Given the description of an element on the screen output the (x, y) to click on. 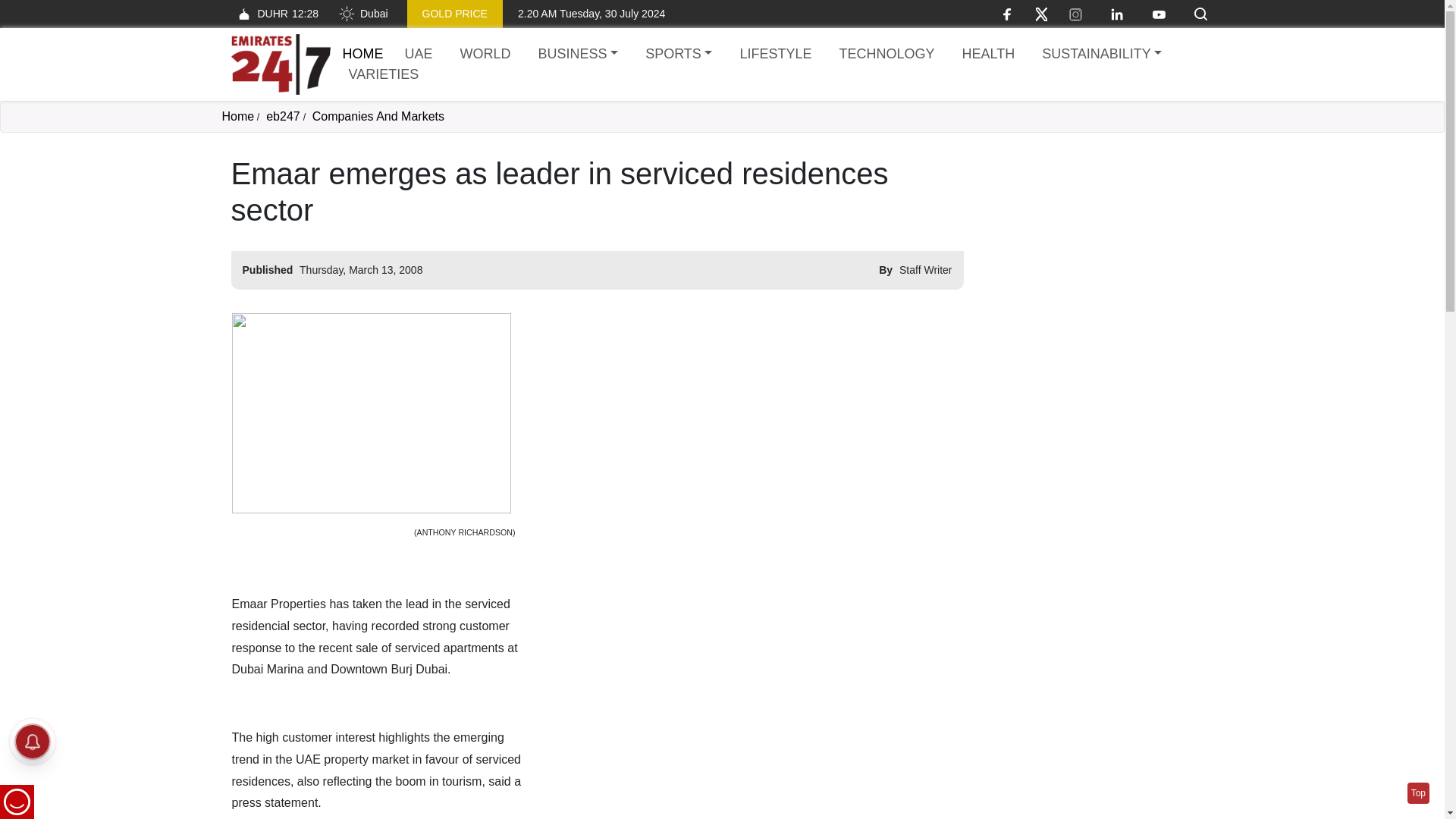
SPORTS (678, 54)
HEALTH (987, 54)
GOLD PRICE (274, 13)
SUSTAINABILITY (454, 13)
LIFESTYLE (1101, 54)
BUSINESS (774, 54)
Dubai (578, 54)
Companies And Markets (362, 13)
3rd party ad content (378, 115)
UAE (1097, 249)
eb247 (418, 54)
Home (282, 115)
Home (280, 64)
HOME (237, 115)
